Given the description of an element on the screen output the (x, y) to click on. 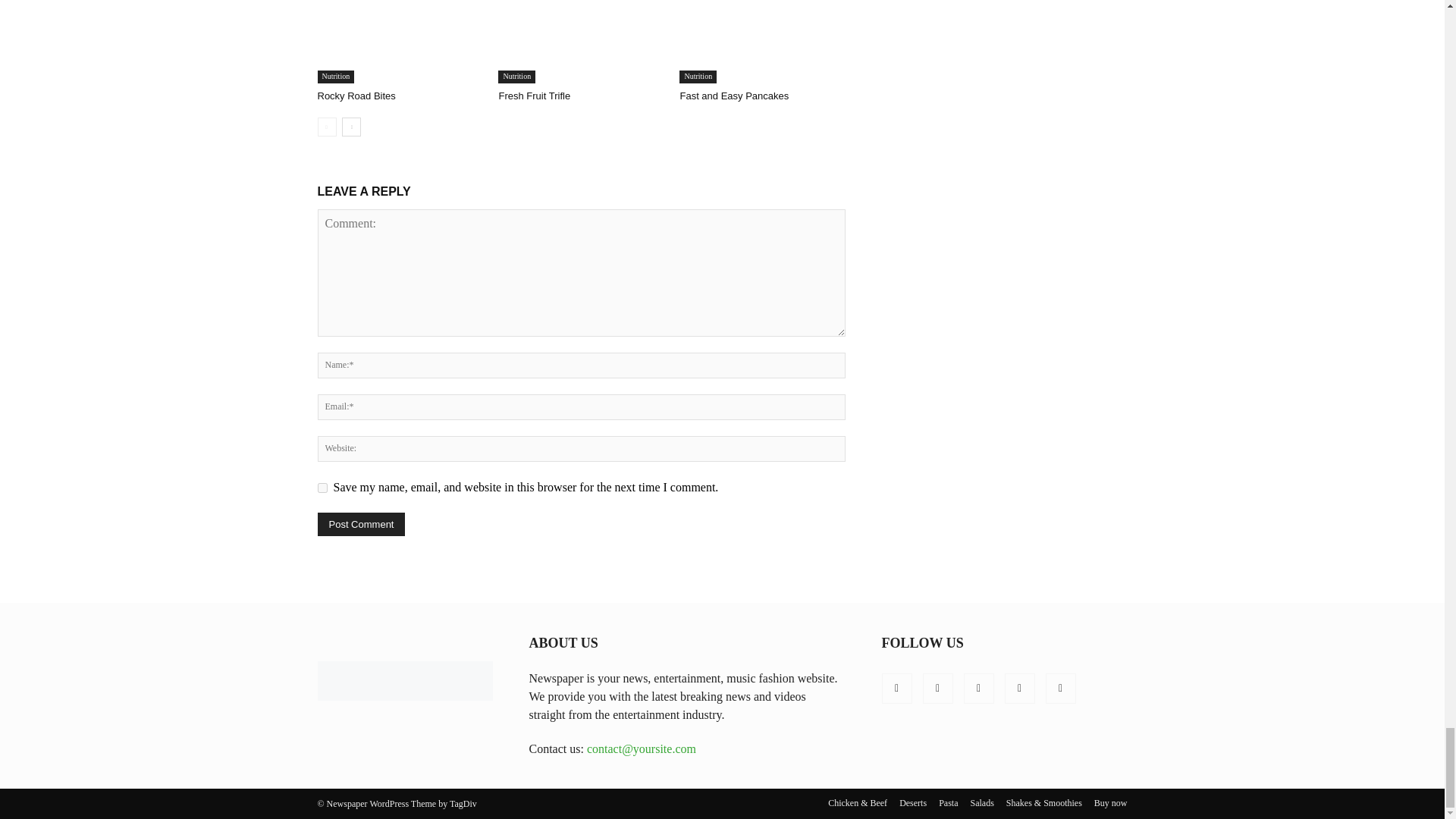
yes (321, 488)
Post Comment (360, 524)
